Given the description of an element on the screen output the (x, y) to click on. 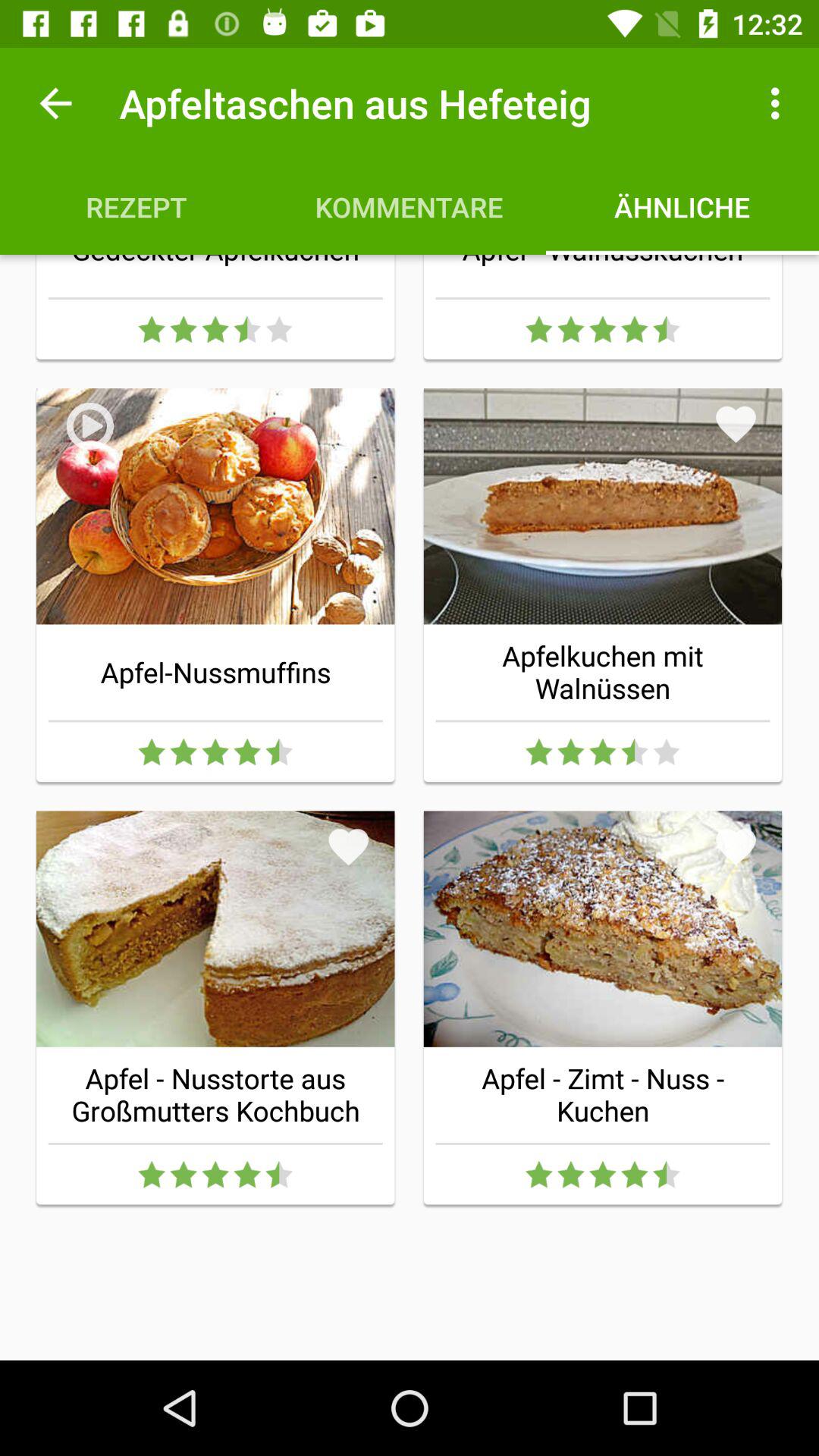
turn on the icon to the left of apfeltaschen aus hefeteig icon (55, 103)
